Given the description of an element on the screen output the (x, y) to click on. 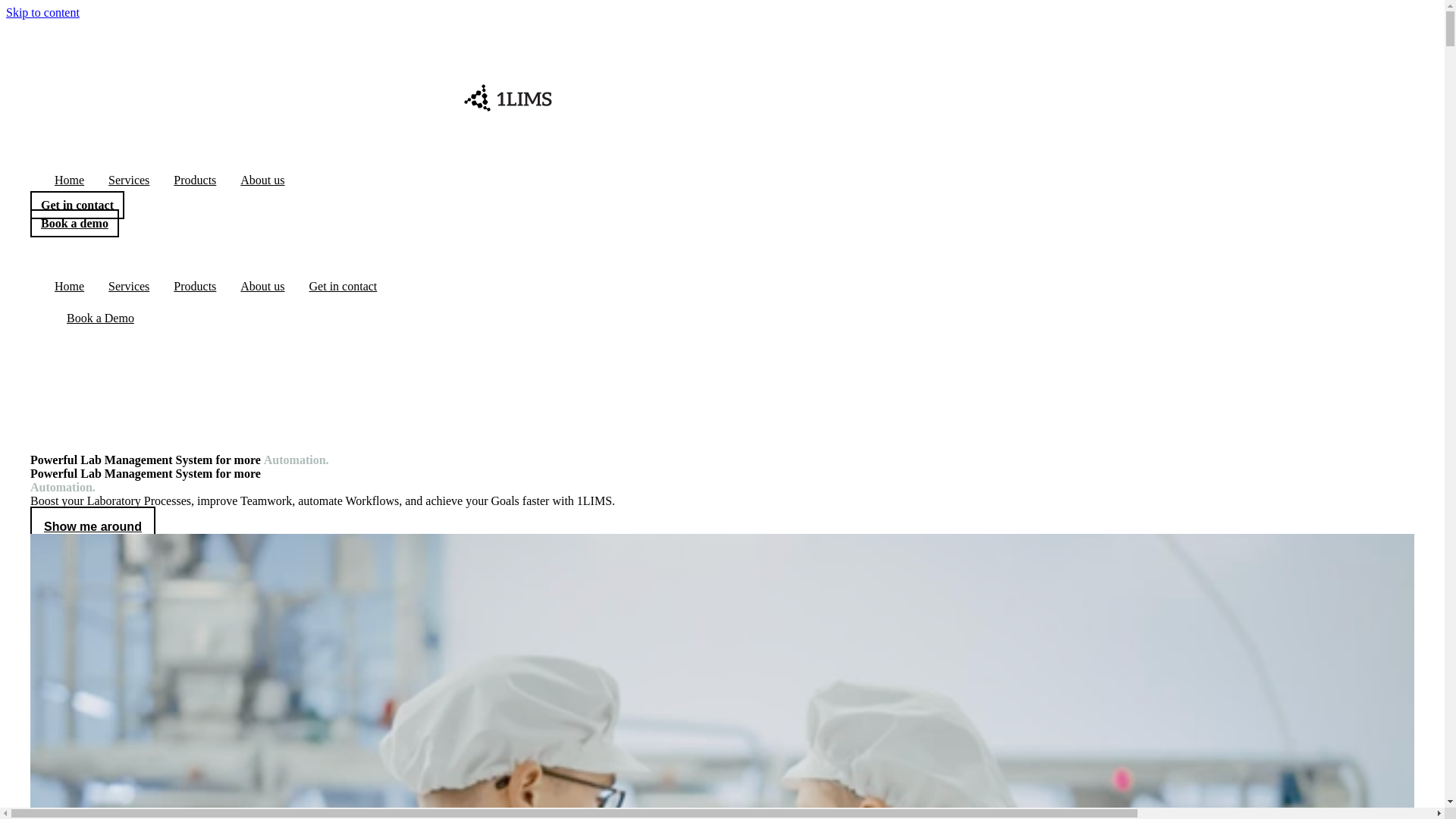
About us Element type: text (262, 180)
Services Element type: text (128, 286)
Get in contact Element type: text (77, 205)
Get in contact Element type: text (343, 286)
Home Element type: text (69, 180)
Home Element type: text (69, 286)
Book a demo Element type: text (74, 223)
Show me around Element type: text (92, 526)
Products Element type: text (194, 180)
About us Element type: text (262, 286)
Book a Demo Element type: text (100, 318)
Products Element type: text (194, 286)
Services Element type: text (128, 180)
Skip to content Element type: text (42, 12)
